Given the description of an element on the screen output the (x, y) to click on. 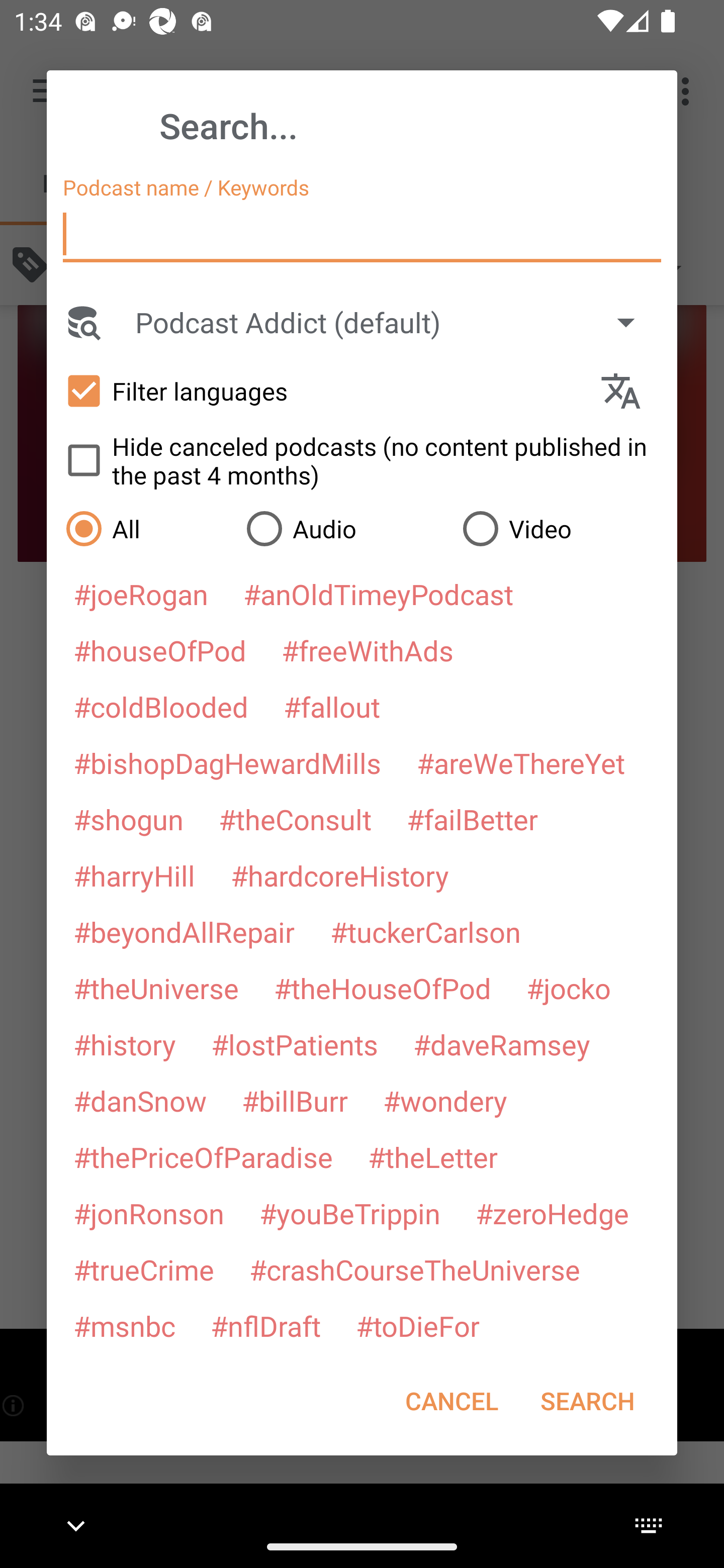
Podcast name / Keywords (361, 234)
Search Engine (82, 322)
Podcast Addict (default) (394, 322)
Languages selection (629, 390)
Filter languages (322, 390)
All (145, 528)
Audio (344, 528)
Video (560, 528)
#joeRogan (140, 594)
#anOldTimeyPodcast (378, 594)
#houseOfPod (159, 650)
#freeWithAds (367, 650)
#coldBlooded (160, 705)
#fallout (331, 705)
#bishopDagHewardMills (227, 762)
#areWeThereYet (521, 762)
#shogun (128, 818)
#theConsult (294, 818)
#failBetter (471, 818)
#harryHill (134, 875)
#hardcoreHistory (339, 875)
#beyondAllRepair (184, 931)
#tuckerCarlson (425, 931)
#theUniverse (155, 987)
#theHouseOfPod (381, 987)
#jocko (568, 987)
#history (124, 1044)
#lostPatients (294, 1044)
#daveRamsey (501, 1044)
#danSnow (139, 1100)
#billBurr (294, 1100)
#wondery (444, 1100)
#thePriceOfParadise (203, 1157)
#theLetter (432, 1157)
#jonRonson (148, 1213)
#youBeTrippin (349, 1213)
#zeroHedge (552, 1213)
#trueCrime (143, 1268)
#crashCourseTheUniverse (414, 1268)
#msnbc (124, 1325)
#nflDraft (265, 1325)
#toDieFor (417, 1325)
CANCEL (451, 1400)
SEARCH (587, 1400)
